Given the description of an element on the screen output the (x, y) to click on. 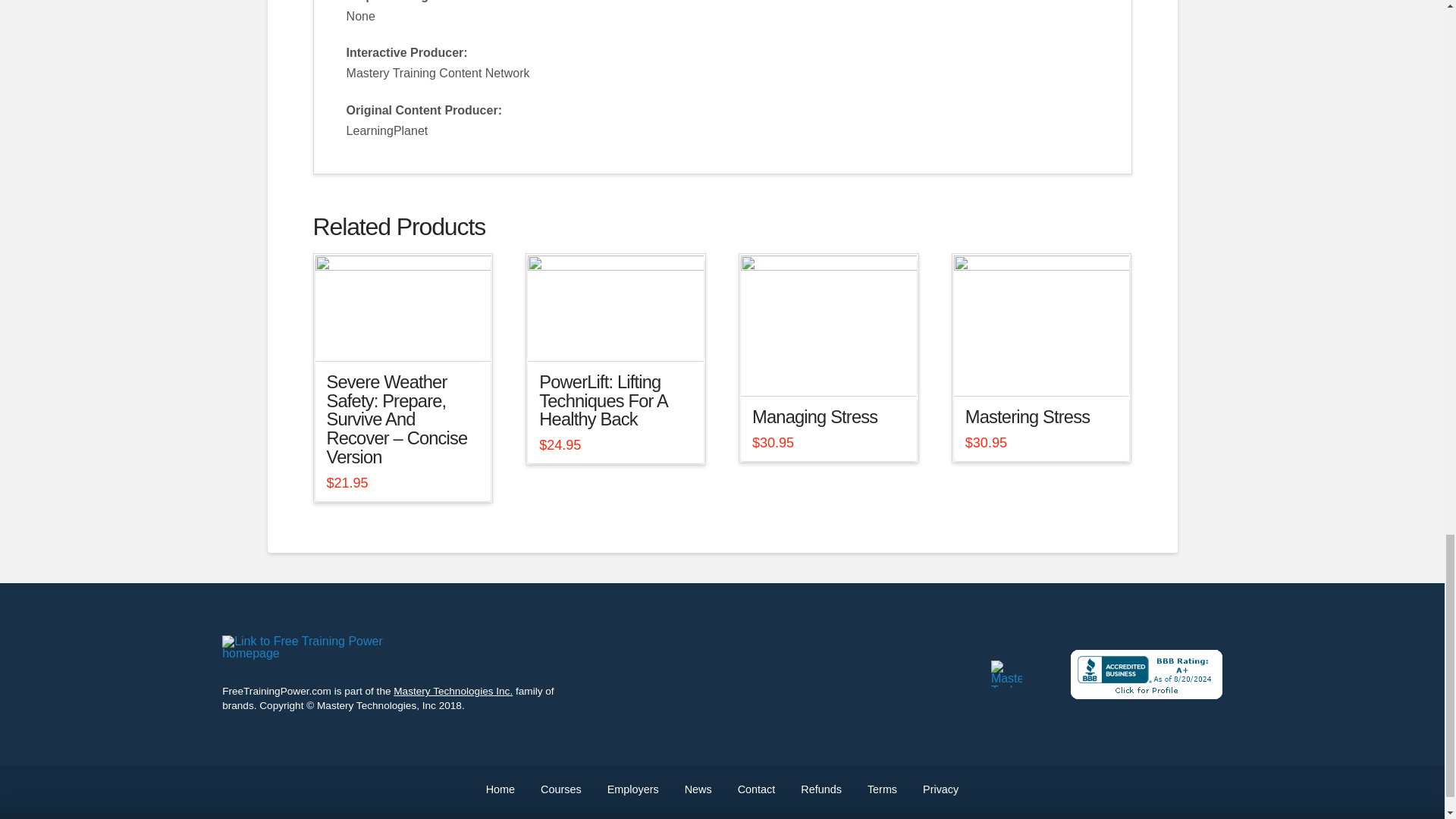
Mastery Technologies Inc. (452, 690)
Home (500, 789)
Managing Stress (814, 416)
PowerLift: Lifting Techniques For A Healthy Back (602, 400)
Mastering Stress (1027, 416)
